Given the description of an element on the screen output the (x, y) to click on. 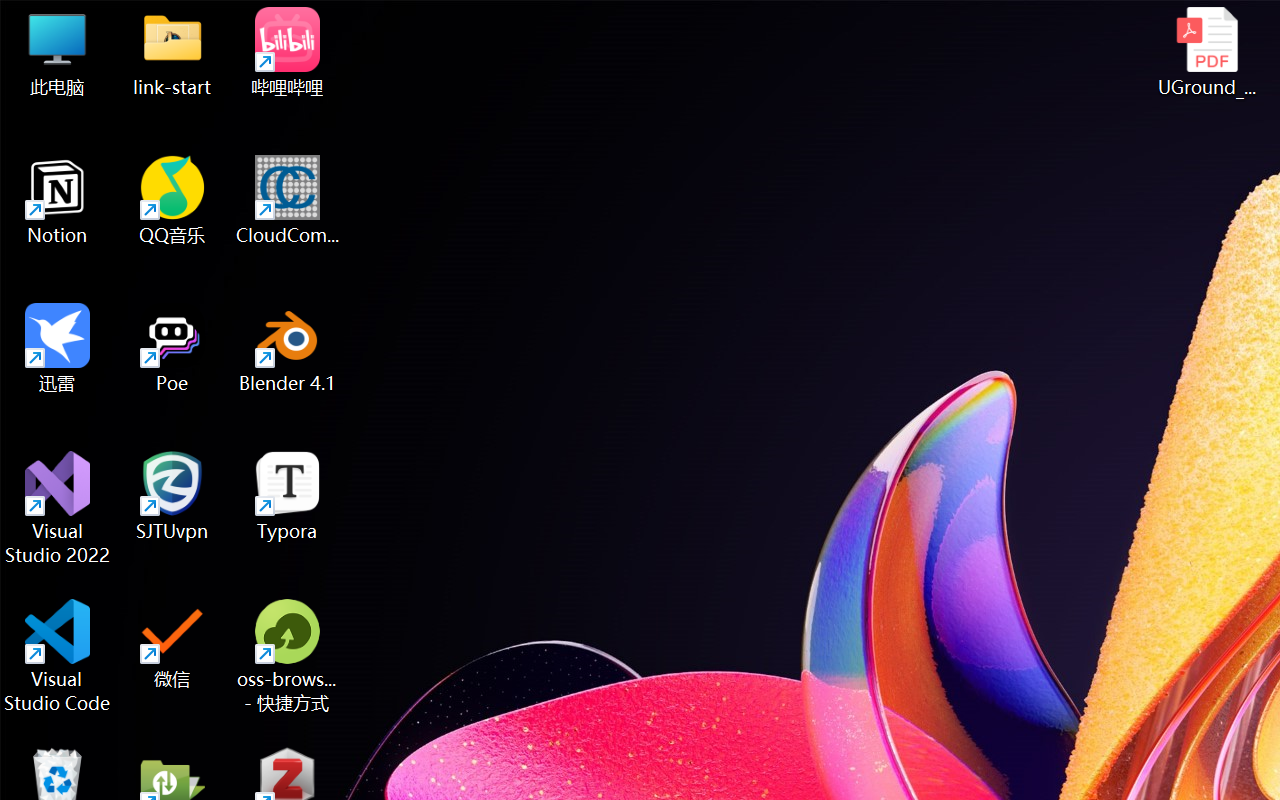
Visual Studio 2022 (57, 508)
SJTUvpn (172, 496)
Typora (287, 496)
CloudCompare (287, 200)
UGround_paper.pdf (1206, 52)
Poe (172, 348)
Blender 4.1 (287, 348)
Notion (57, 200)
Visual Studio Code (57, 656)
